Given the description of an element on the screen output the (x, y) to click on. 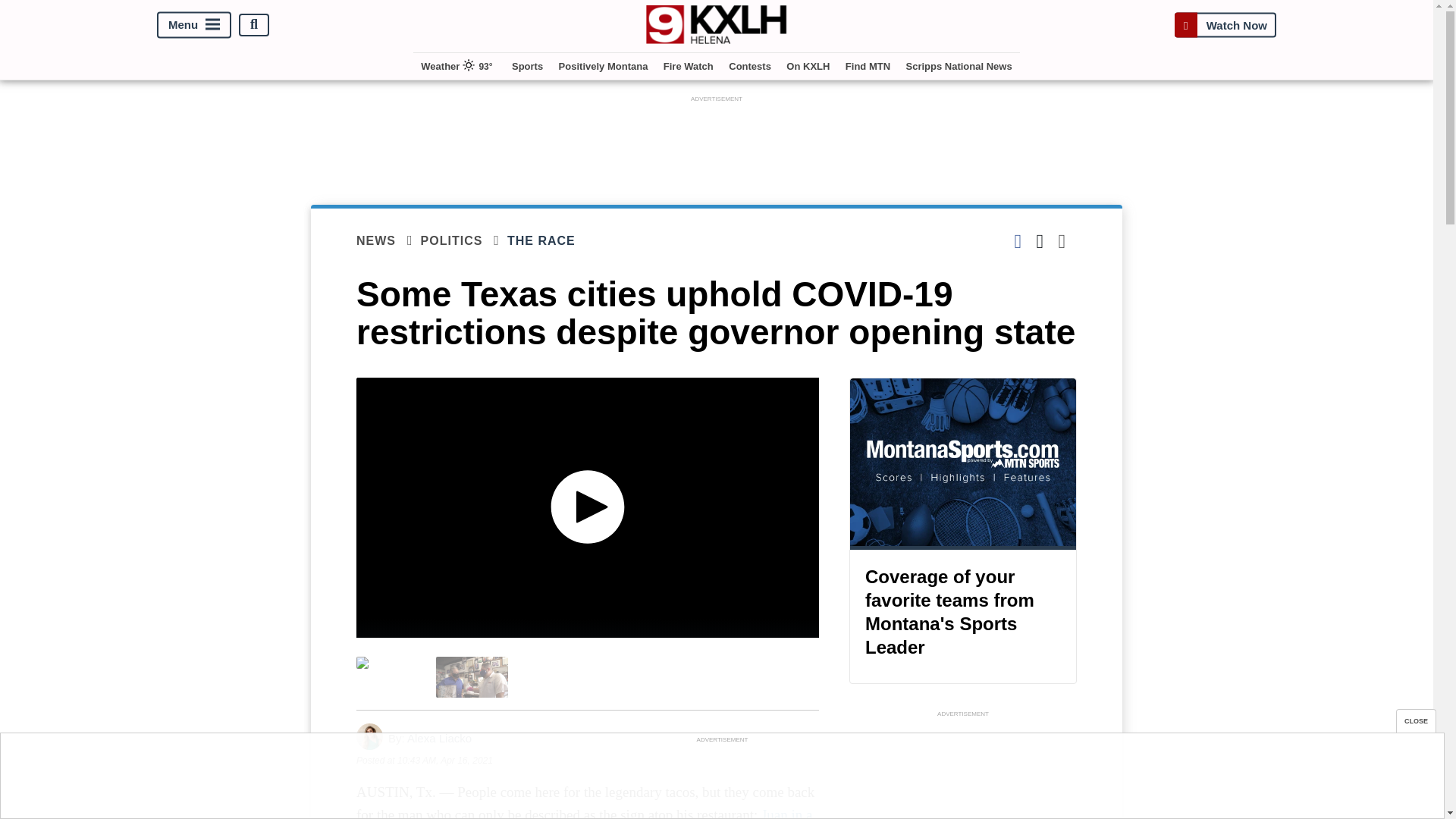
3rd party ad content (716, 140)
3rd party ad content (721, 780)
Menu (194, 24)
3rd party ad content (962, 770)
Watch Now (1224, 24)
